Given the description of an element on the screen output the (x, y) to click on. 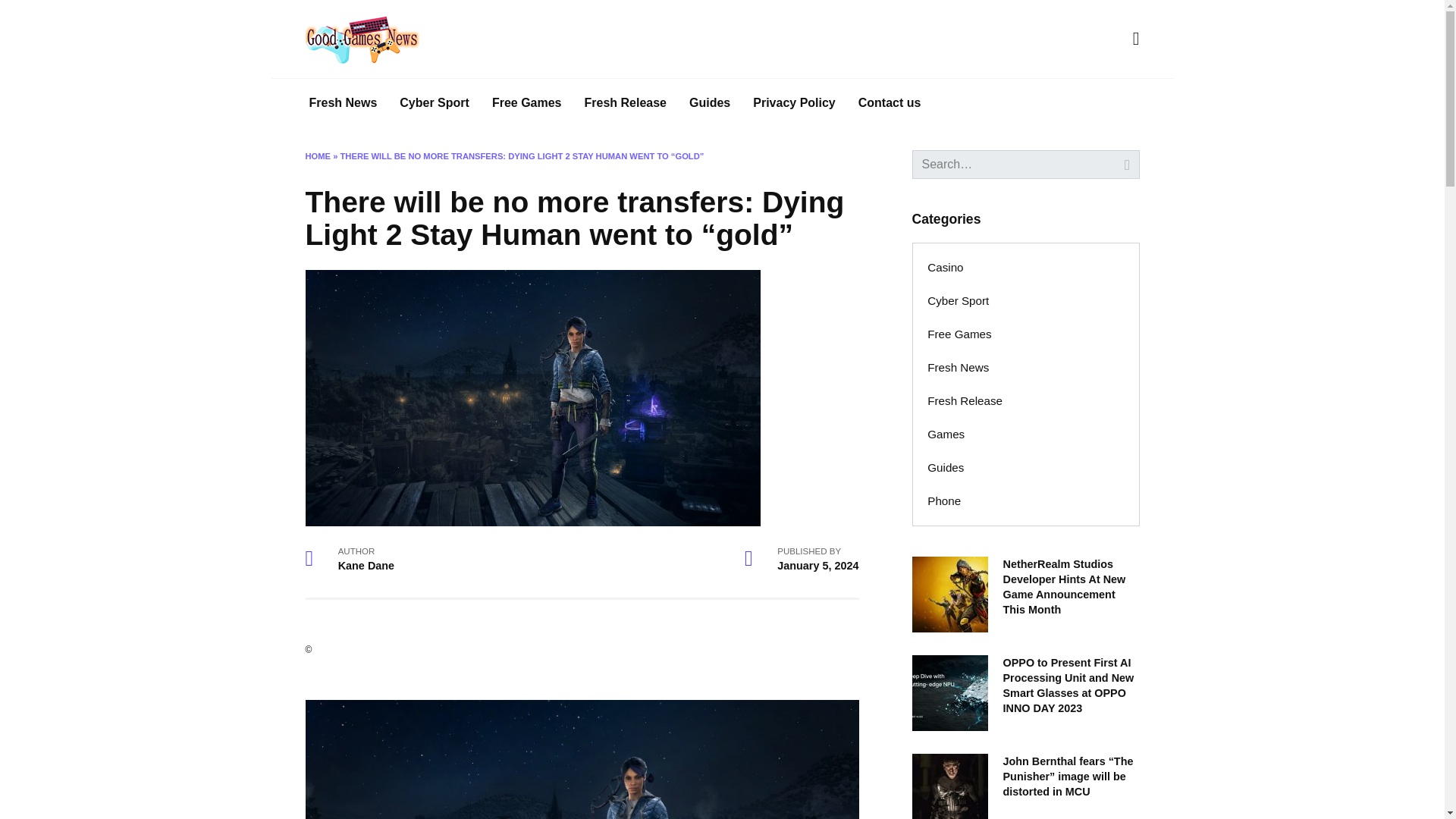
Contact us (890, 102)
Fresh News (958, 367)
Fresh Release (964, 400)
Games (945, 434)
Fresh News (342, 102)
Free Games (959, 334)
Cyber Sport (434, 102)
Cyber Sport (958, 300)
Phone (943, 500)
Guides (709, 102)
Guides (945, 467)
Privacy Policy (794, 102)
Free Games (526, 102)
